Given the description of an element on the screen output the (x, y) to click on. 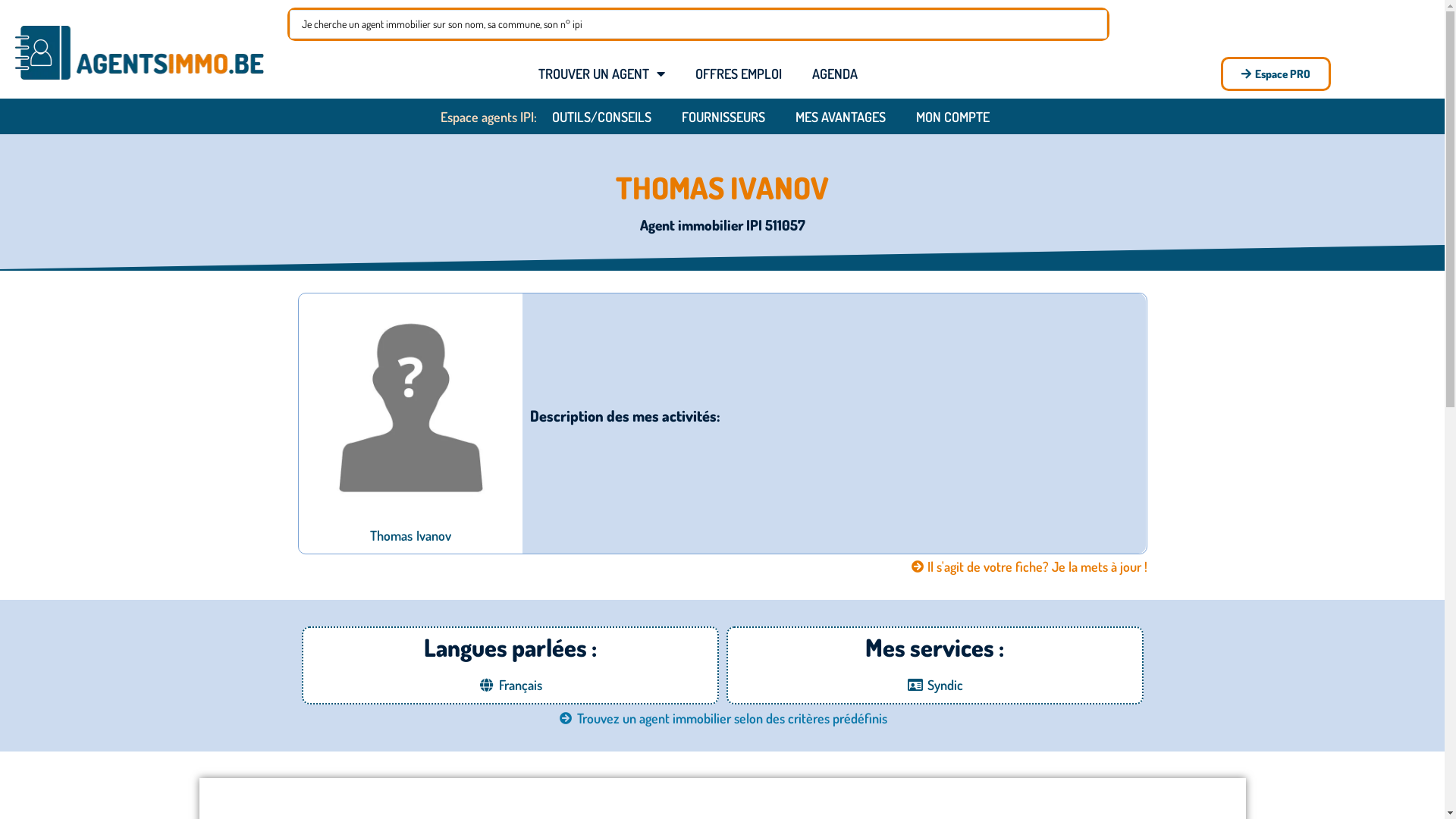
AGENDA Element type: text (834, 73)
MES AVANTAGES Element type: text (839, 116)
MON COMPTE Element type: text (952, 116)
OUTILS/CONSEILS Element type: text (601, 116)
TROUVER UN AGENT Element type: text (601, 73)
Espace PRO Element type: text (1275, 73)
FOURNISSEURS Element type: text (722, 116)
OFFRES EMPLOI Element type: text (738, 73)
